Given the description of an element on the screen output the (x, y) to click on. 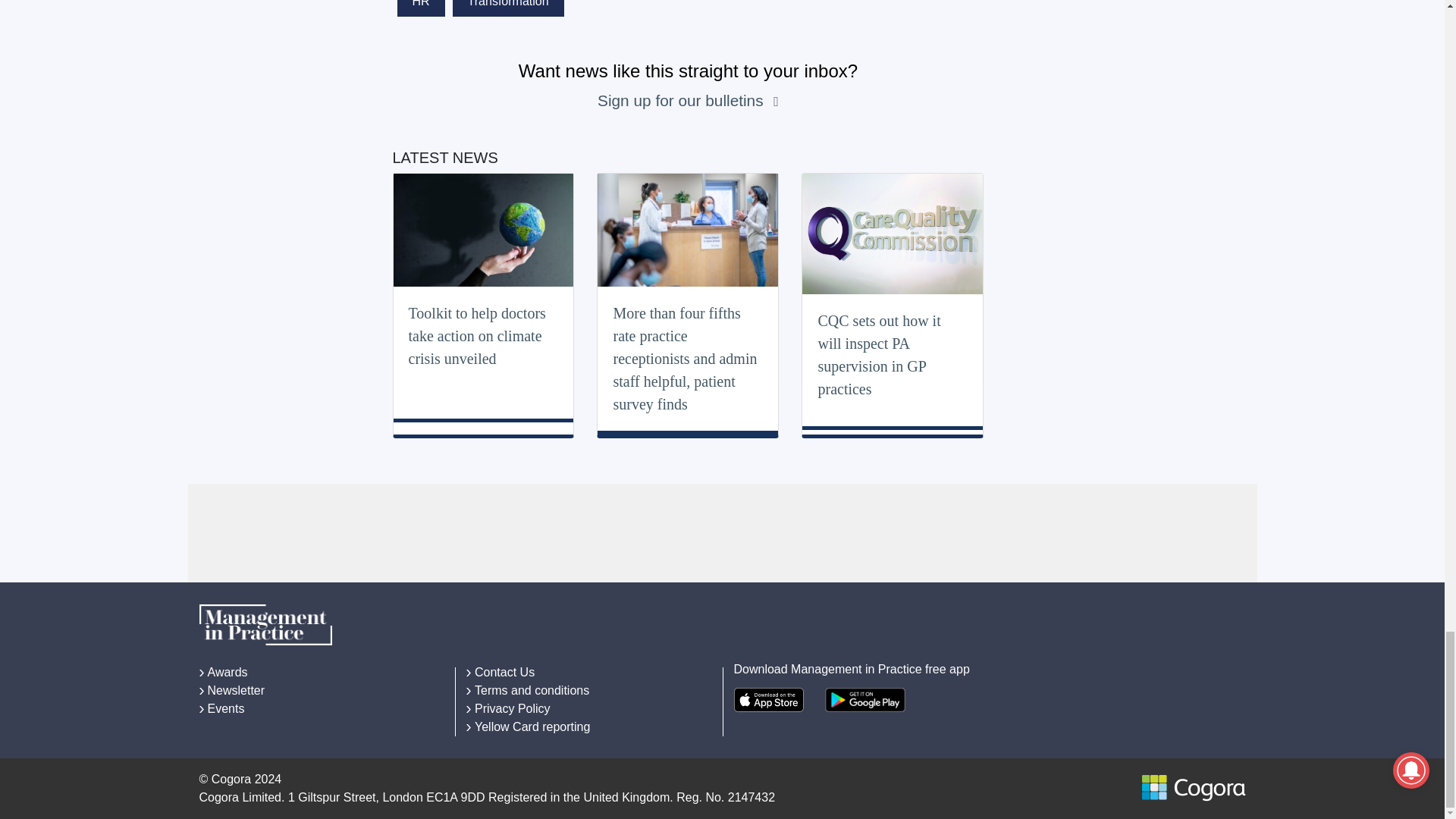
Sign up for our bulletins (681, 99)
Download our app from the Apple App Store (768, 699)
Download our app from Google Play (865, 699)
